Given the description of an element on the screen output the (x, y) to click on. 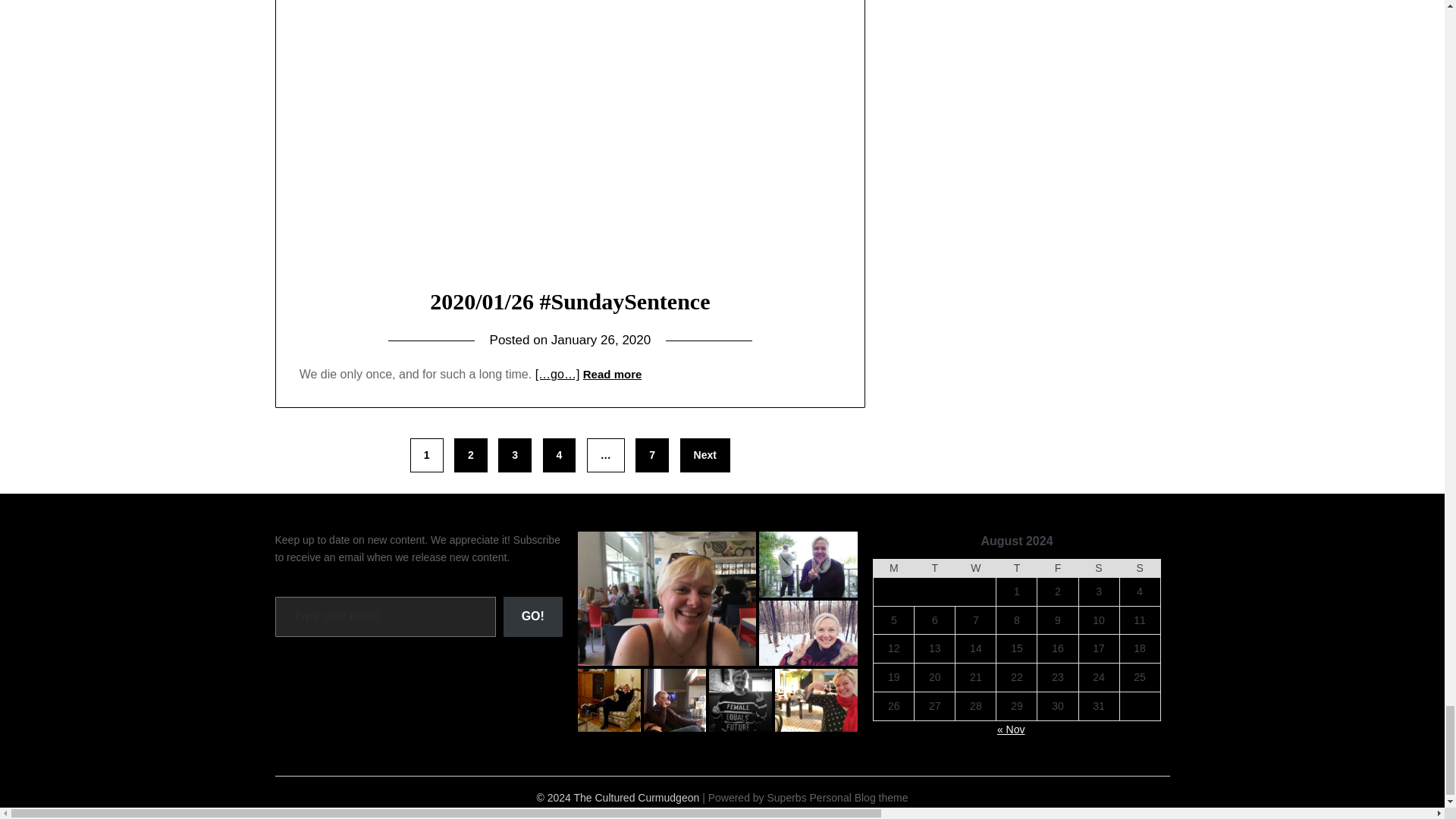
Tuesday (934, 568)
Saturday (1098, 568)
Thursday (1015, 568)
Wednesday (975, 568)
Please fill in this field. (385, 617)
Sunday (1139, 568)
Monday (893, 568)
Friday (1057, 568)
